Given the description of an element on the screen output the (x, y) to click on. 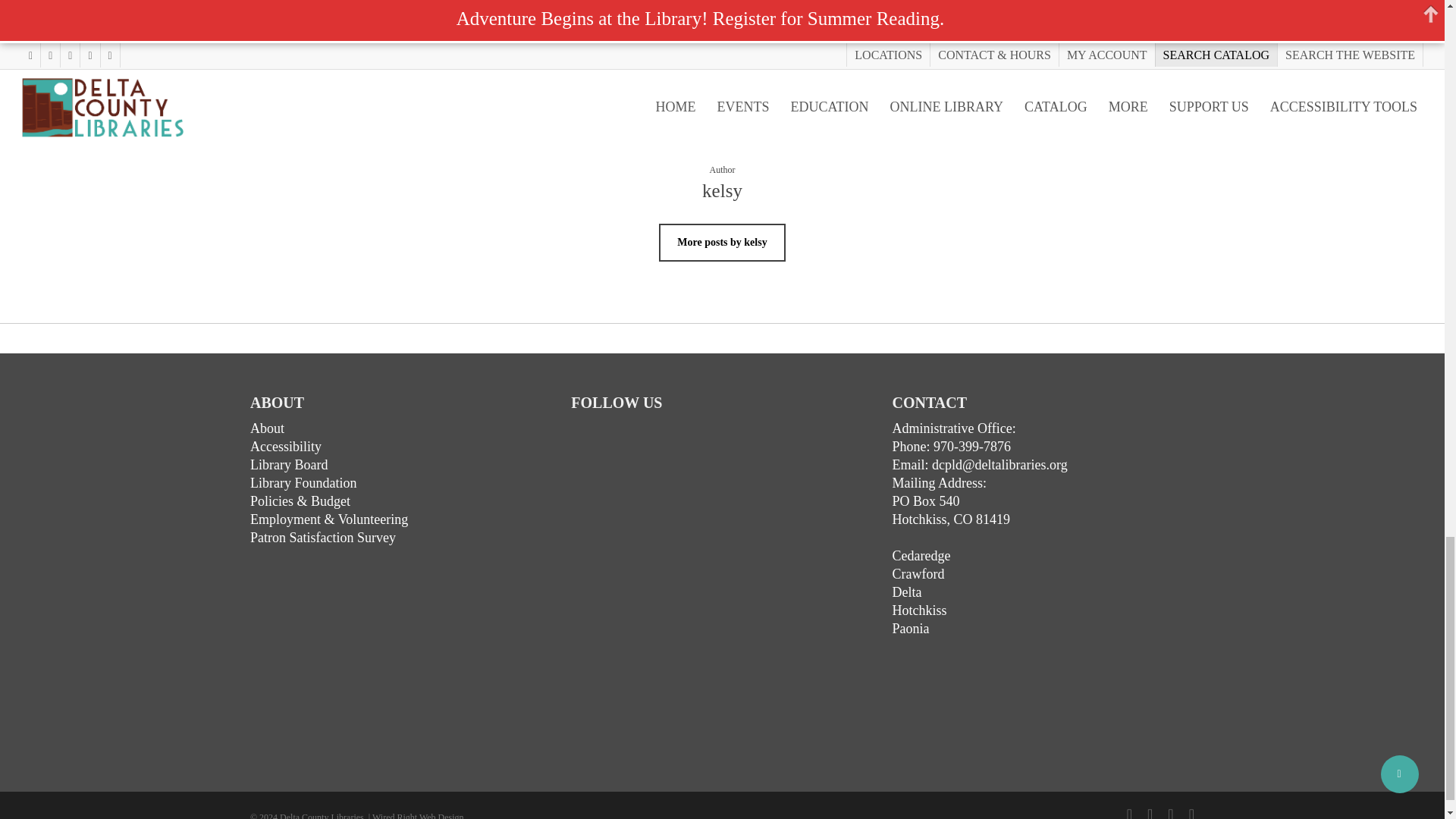
Facebook Posts (683, 570)
